Given the description of an element on the screen output the (x, y) to click on. 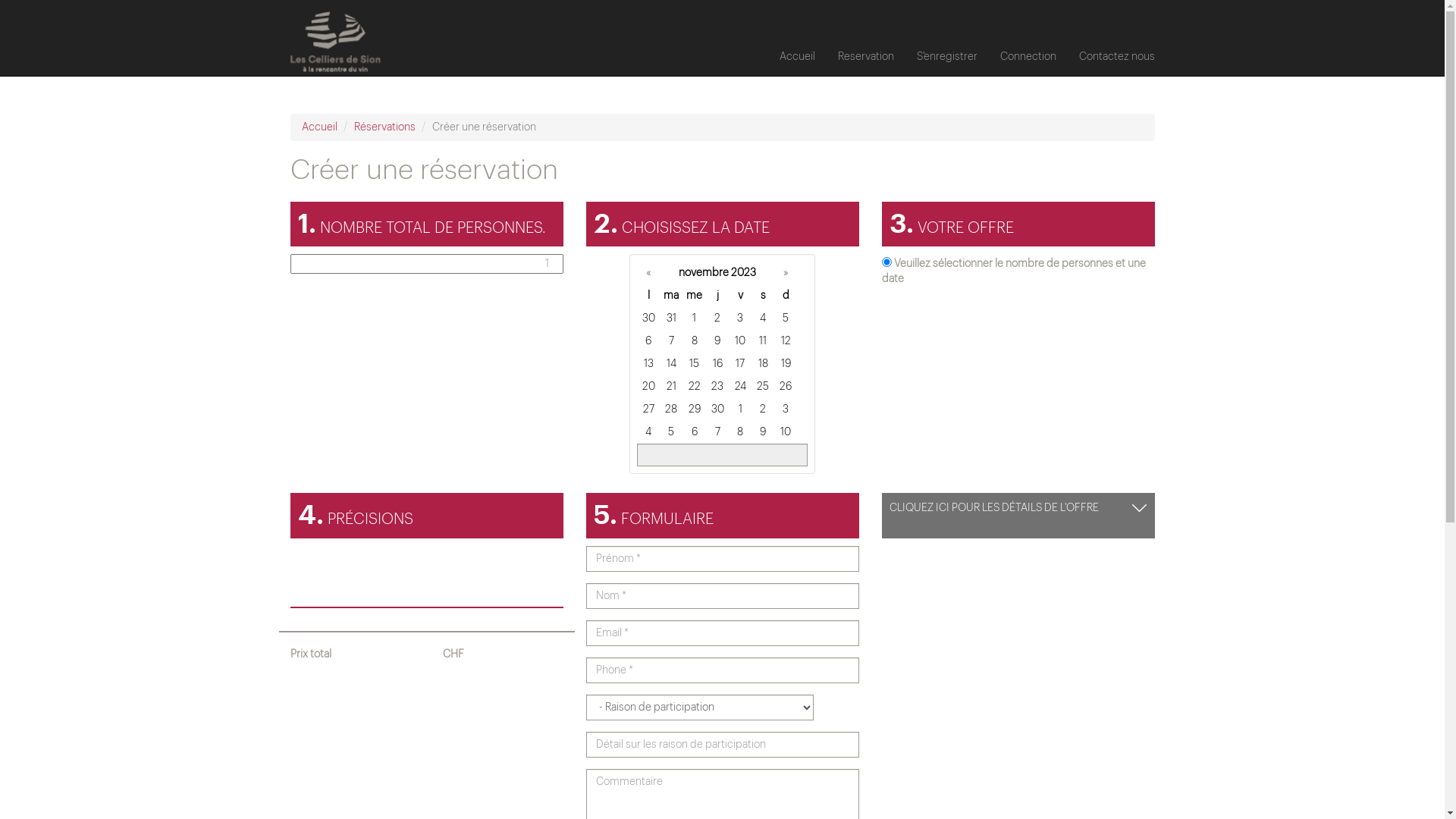
Connection Element type: text (1027, 56)
Accueil Element type: text (796, 56)
Reservation Element type: text (865, 56)
S'enregistrer Element type: text (946, 56)
Contactez nous Element type: text (1116, 56)
Accueil Element type: text (319, 127)
